Given the description of an element on the screen output the (x, y) to click on. 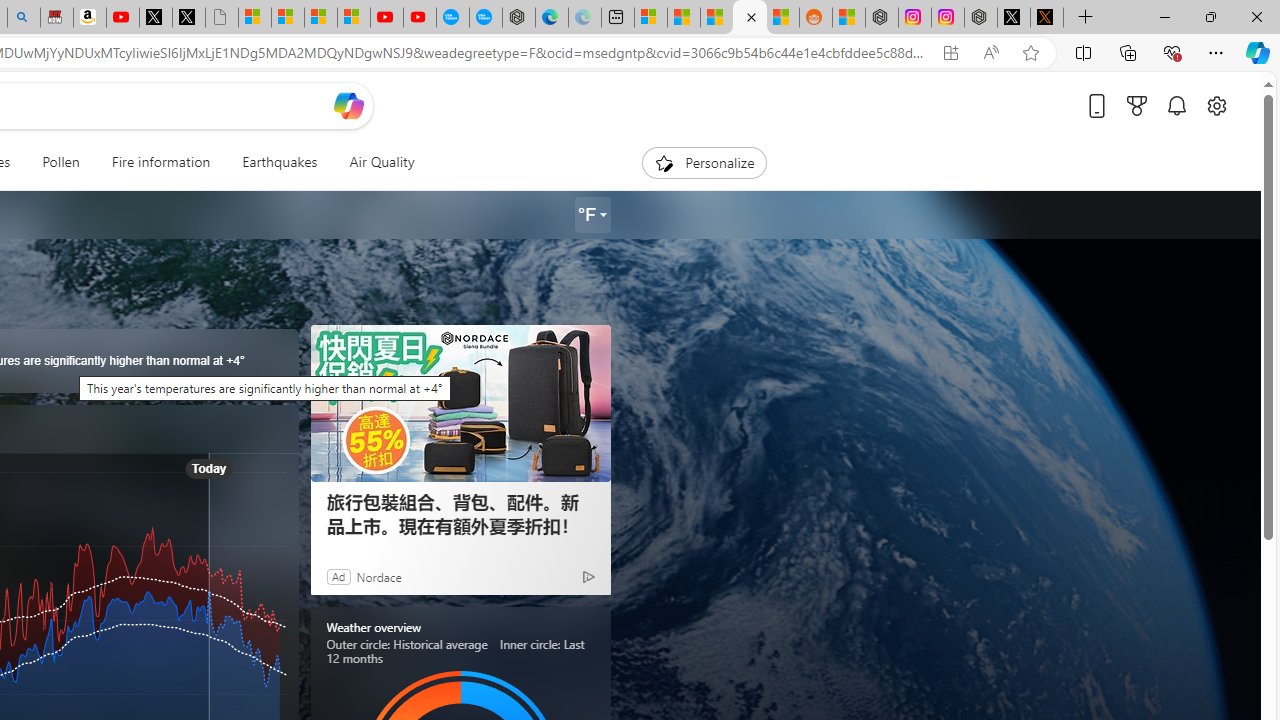
Close tab (751, 16)
Day 1: Arriving in Yemen (surreal to be here) - YouTube (123, 17)
New Tab (1085, 17)
help.x.com | 524: A timeout occurred (1046, 17)
Open settings (1216, 105)
YouTube Kids - An App Created for Kids to Explore Content (420, 17)
Shanghai, China Weather trends | Microsoft Weather (782, 17)
Personalize (703, 162)
Fire information (161, 162)
Read aloud this page (Ctrl+Shift+U) (991, 53)
Microsoft account | Microsoft Account Privacy Settings (650, 17)
